Given the description of an element on the screen output the (x, y) to click on. 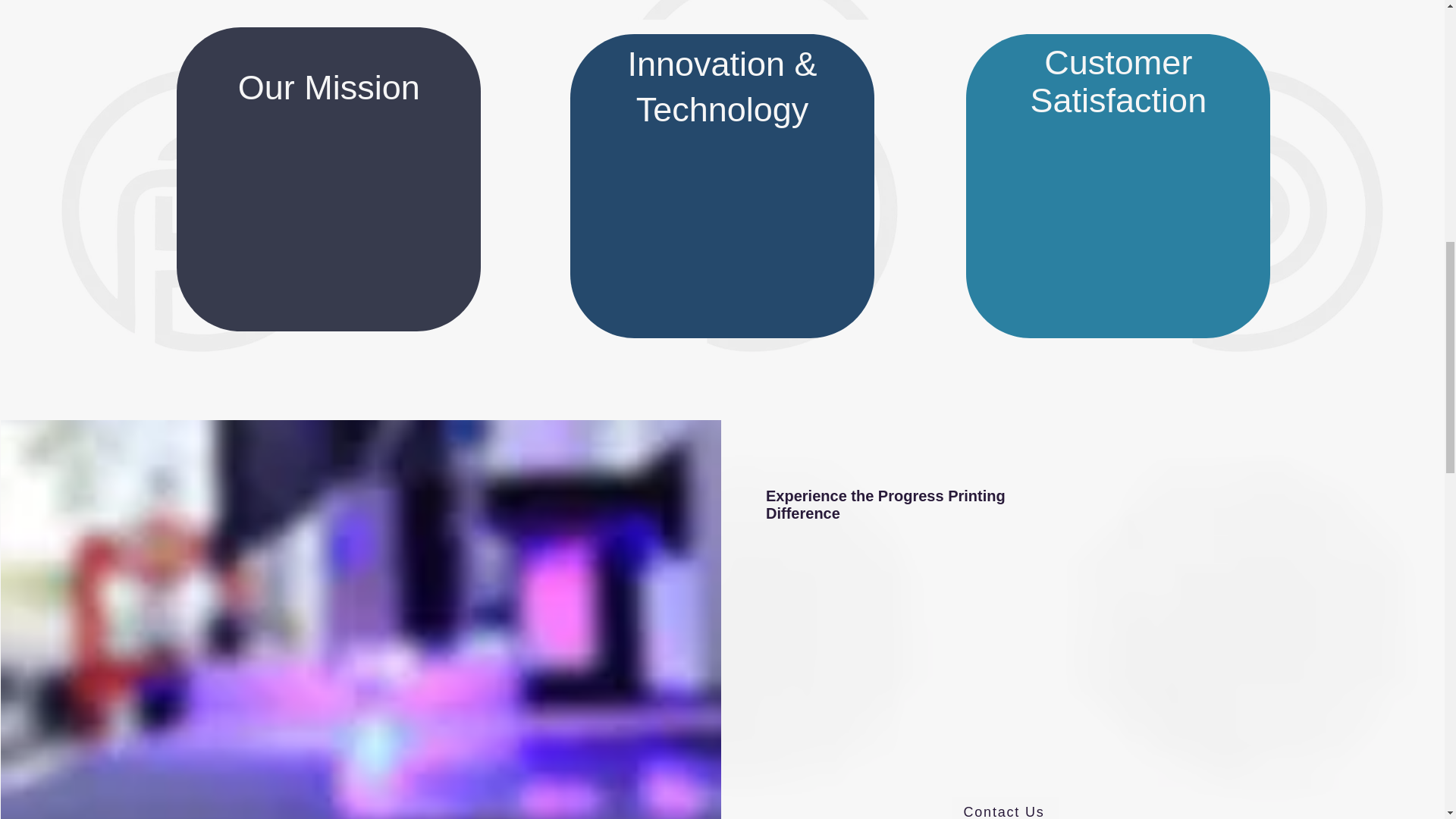
Contact Us (1005, 807)
